Given the description of an element on the screen output the (x, y) to click on. 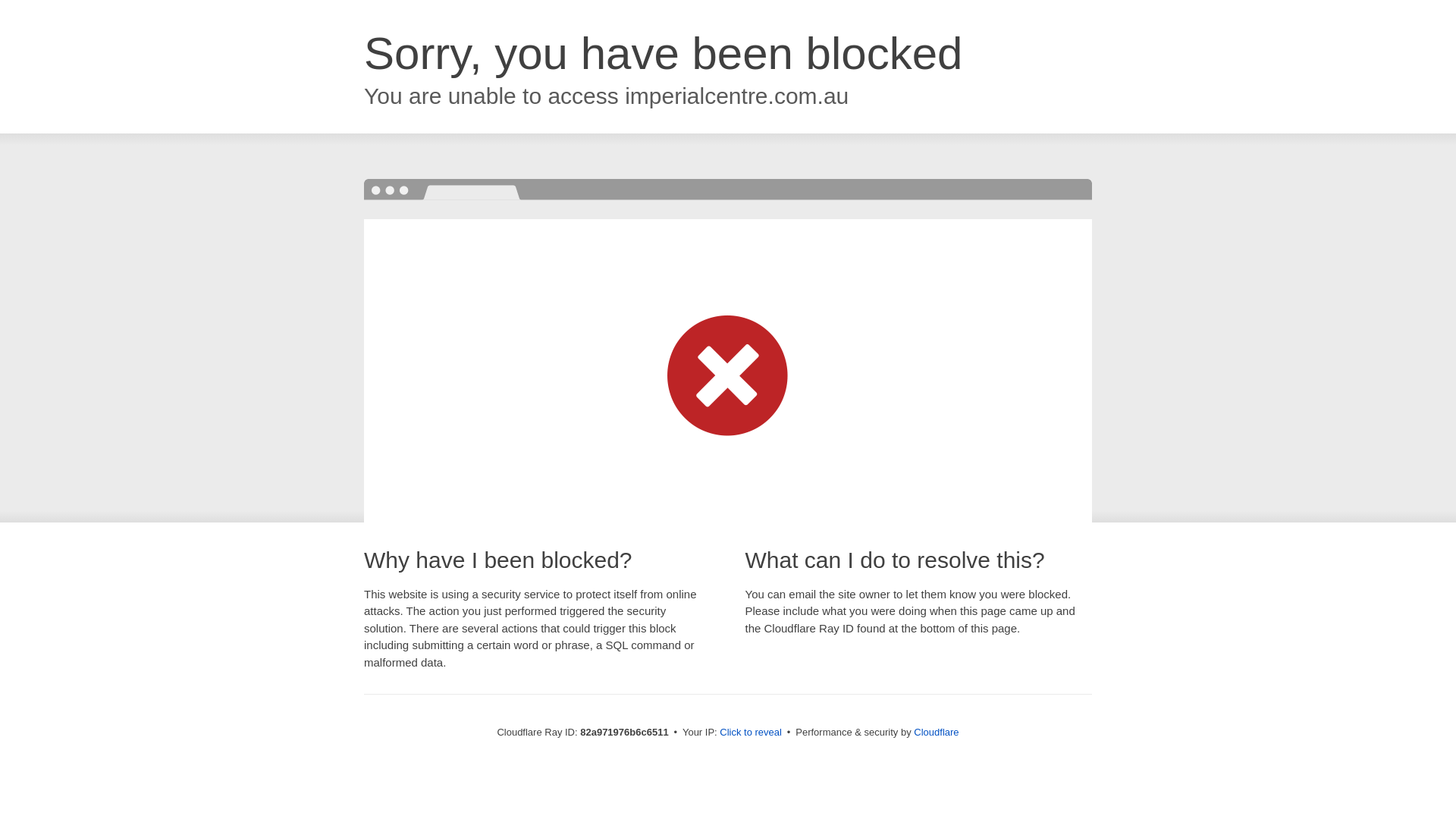
Click to reveal Element type: text (750, 732)
Cloudflare Element type: text (935, 731)
